Given the description of an element on the screen output the (x, y) to click on. 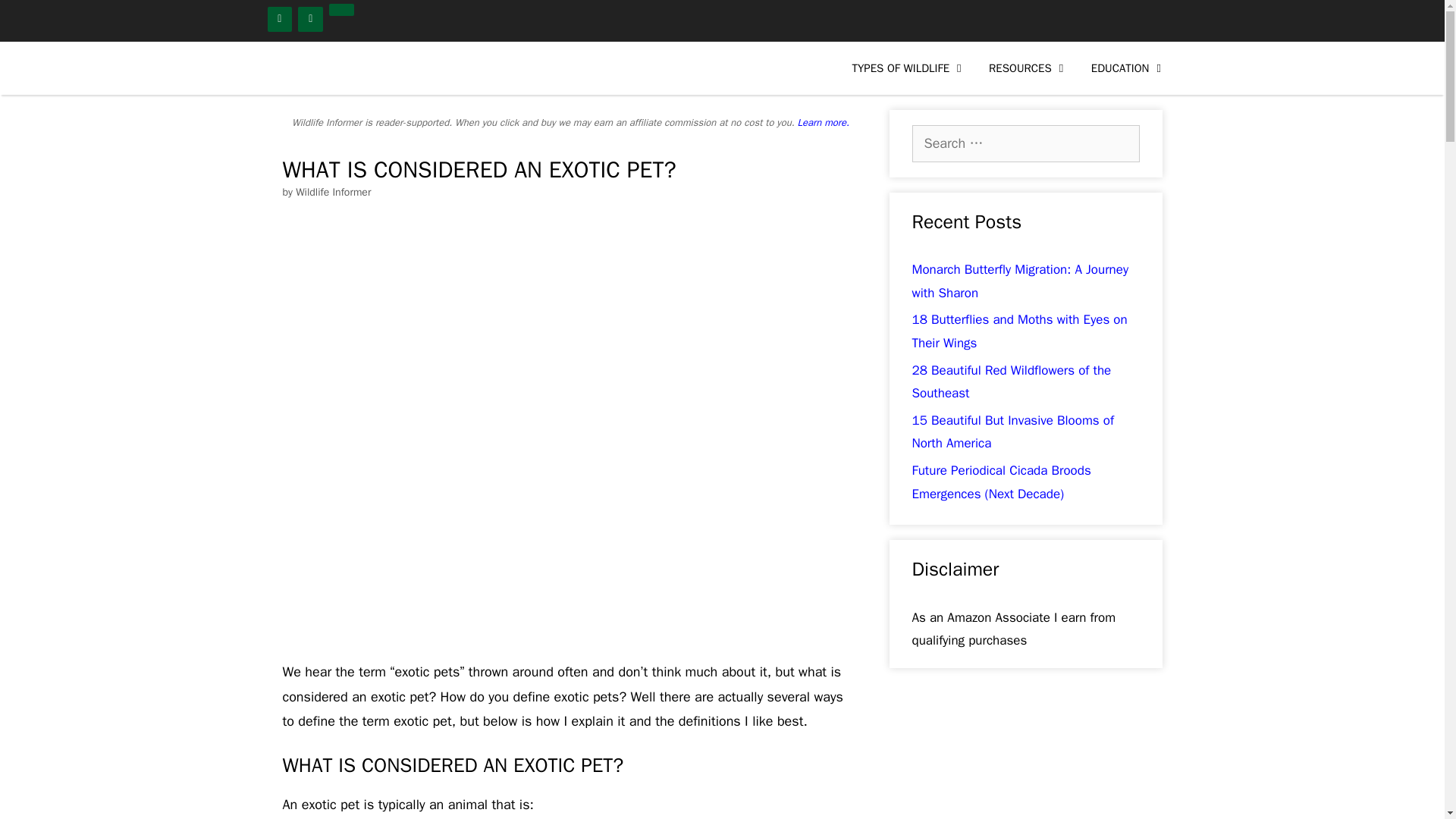
TYPES OF WILDLIFE (908, 68)
Pinterest (341, 9)
View all posts by Wildlife Informer (333, 192)
RESOURCES (1028, 68)
Facebook (279, 18)
Wildlife Informer (361, 68)
Wildlife Informer (365, 68)
YouTube (310, 18)
Search for: (1024, 143)
